Given the description of an element on the screen output the (x, y) to click on. 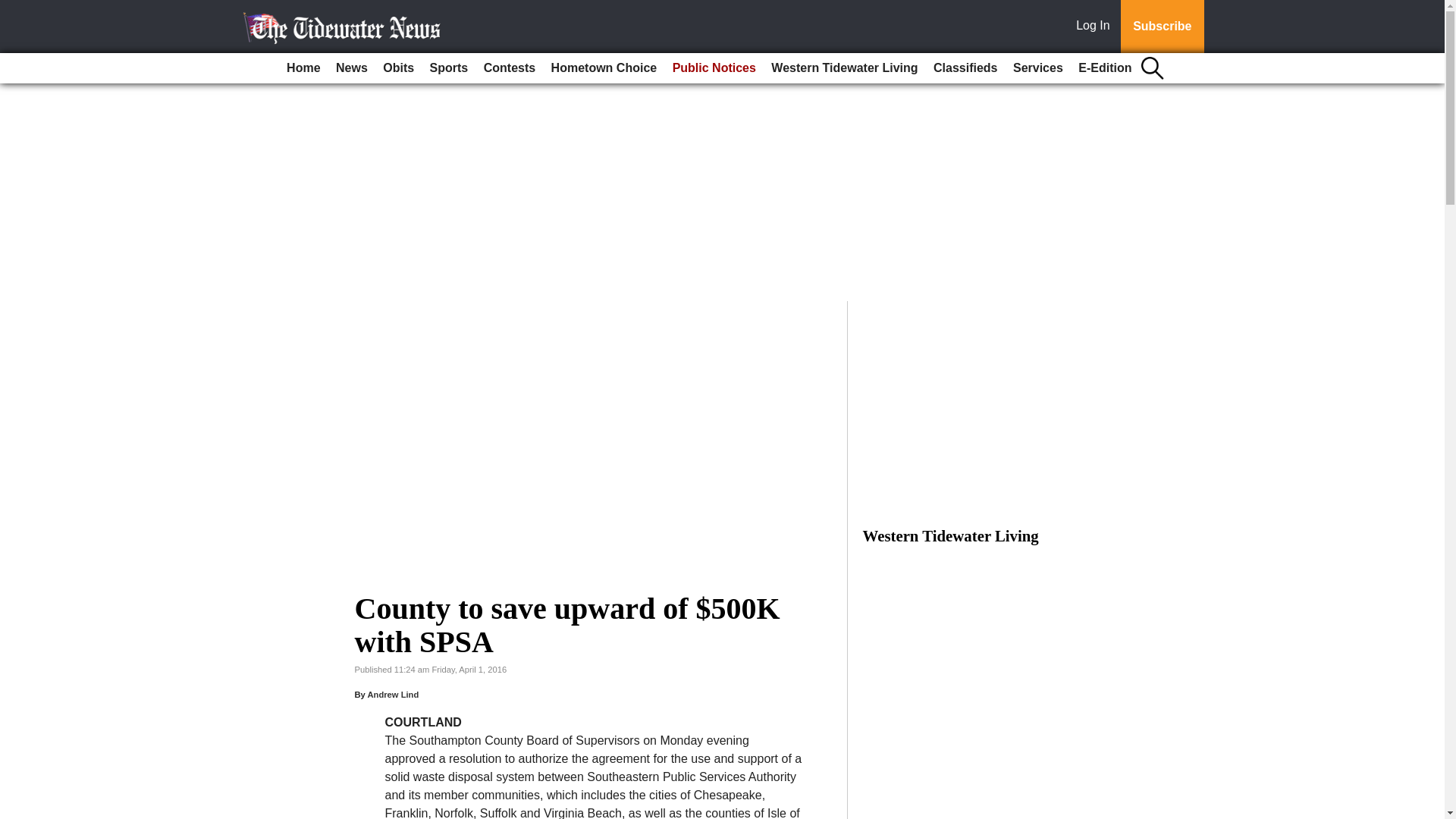
Western Tidewater Living (844, 68)
News (352, 68)
Obits (398, 68)
E-Edition (1104, 68)
Hometown Choice (603, 68)
Subscribe (1162, 26)
Sports (448, 68)
Contests (509, 68)
Go (13, 9)
Andrew Lind (392, 694)
Log In (1095, 26)
Services (1037, 68)
Classifieds (965, 68)
Home (303, 68)
Public Notices (713, 68)
